Given the description of an element on the screen output the (x, y) to click on. 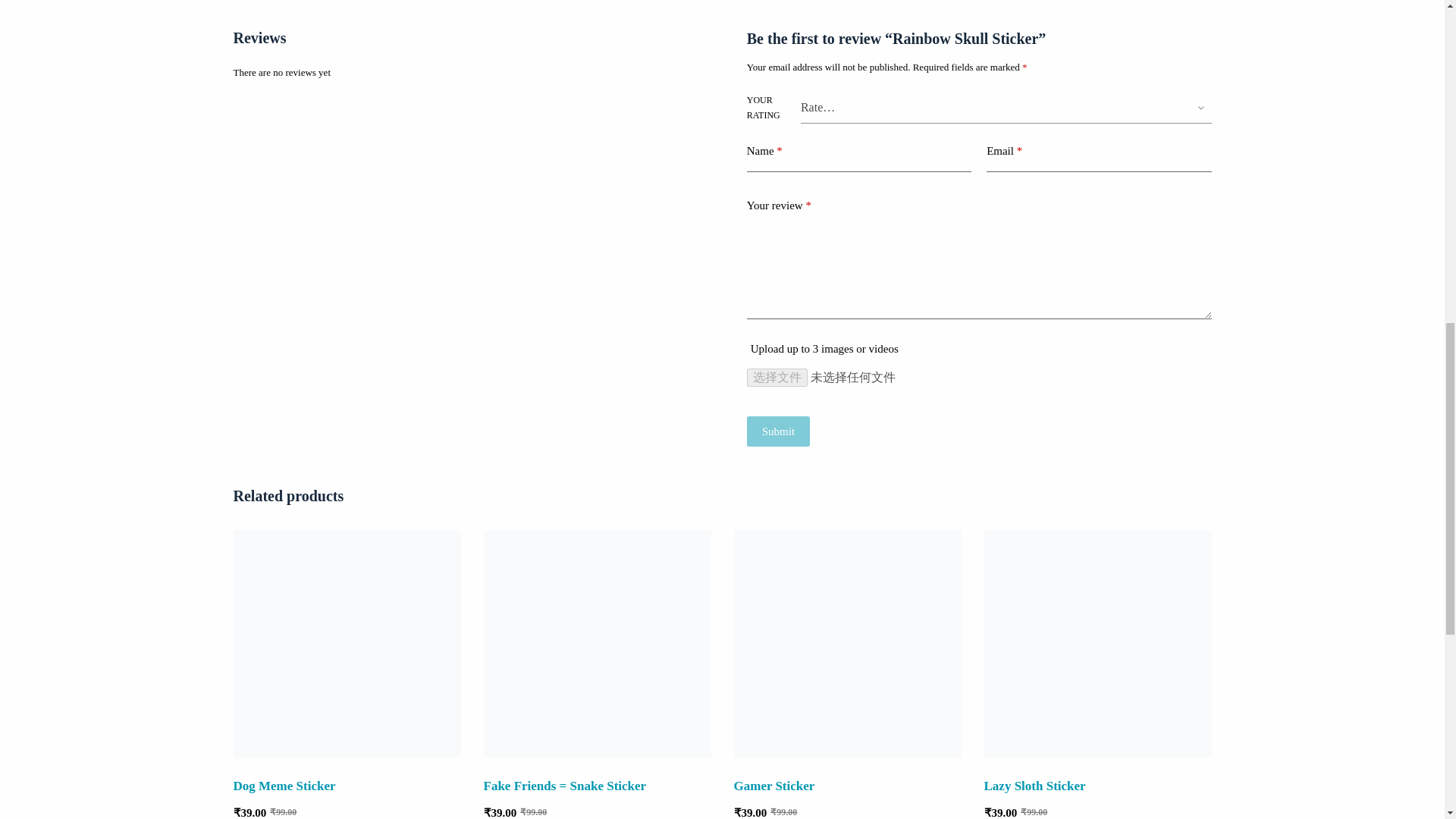
Lazy Sloth Cool Cage Sticker (1097, 643)
Gamer Cool Cage Sticker (846, 643)
Dog Meme Cool Cage Sticker (346, 643)
